Given the description of an element on the screen output the (x, y) to click on. 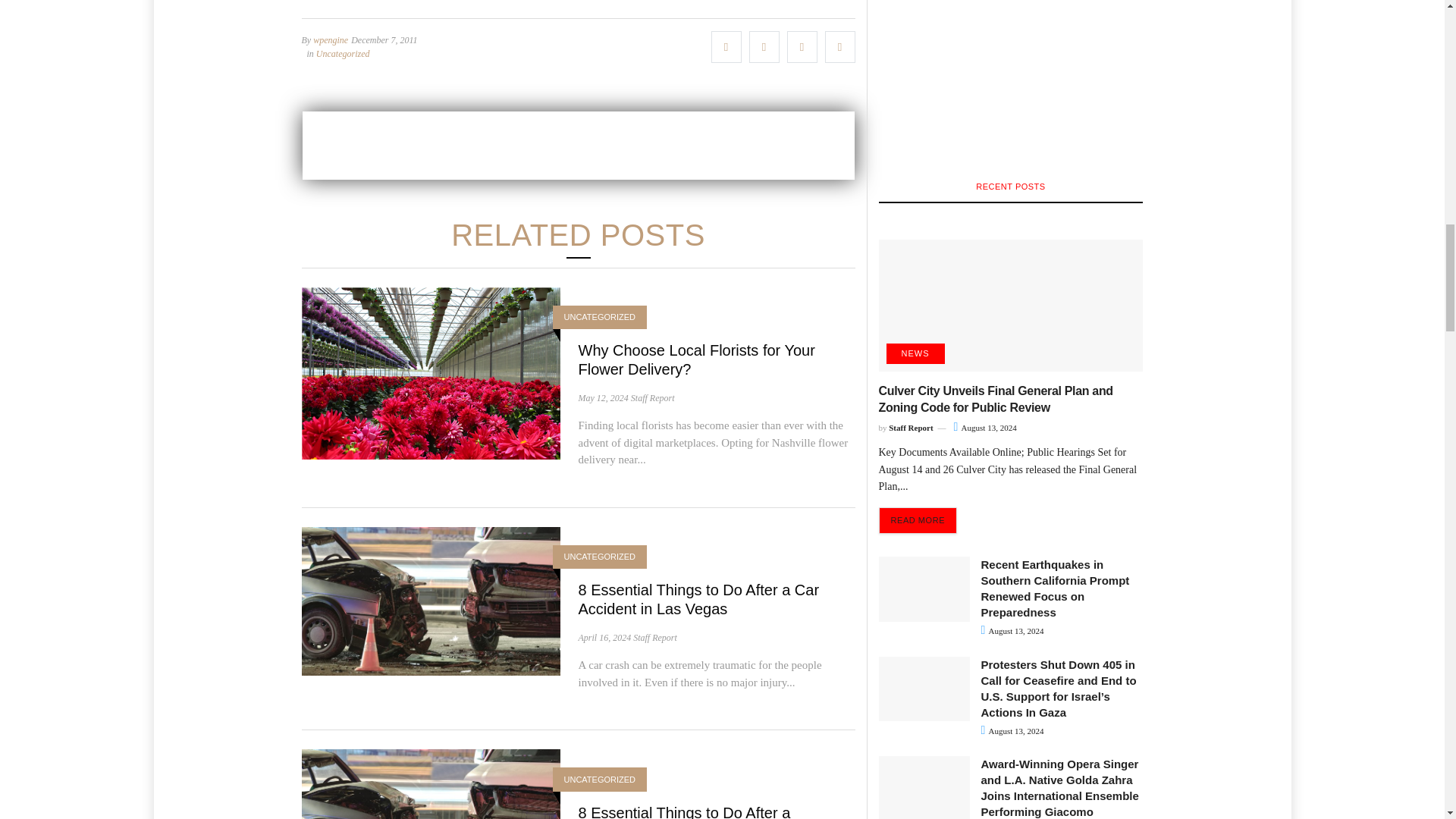
Why Choose Local Florists for Your Flower Delivery? (695, 359)
wpengine (330, 40)
Why Choose Local Florists for Your Flower Delivery? (695, 359)
3rd party ad content (577, 145)
Staff Report (655, 637)
8 Essential Things to Do After a Car Accident in Las Vegas (698, 599)
Why Choose Local Florists for Your Flower Delivery? (430, 372)
Uncategorized (342, 53)
Posts by wpengine (330, 40)
